Given the description of an element on the screen output the (x, y) to click on. 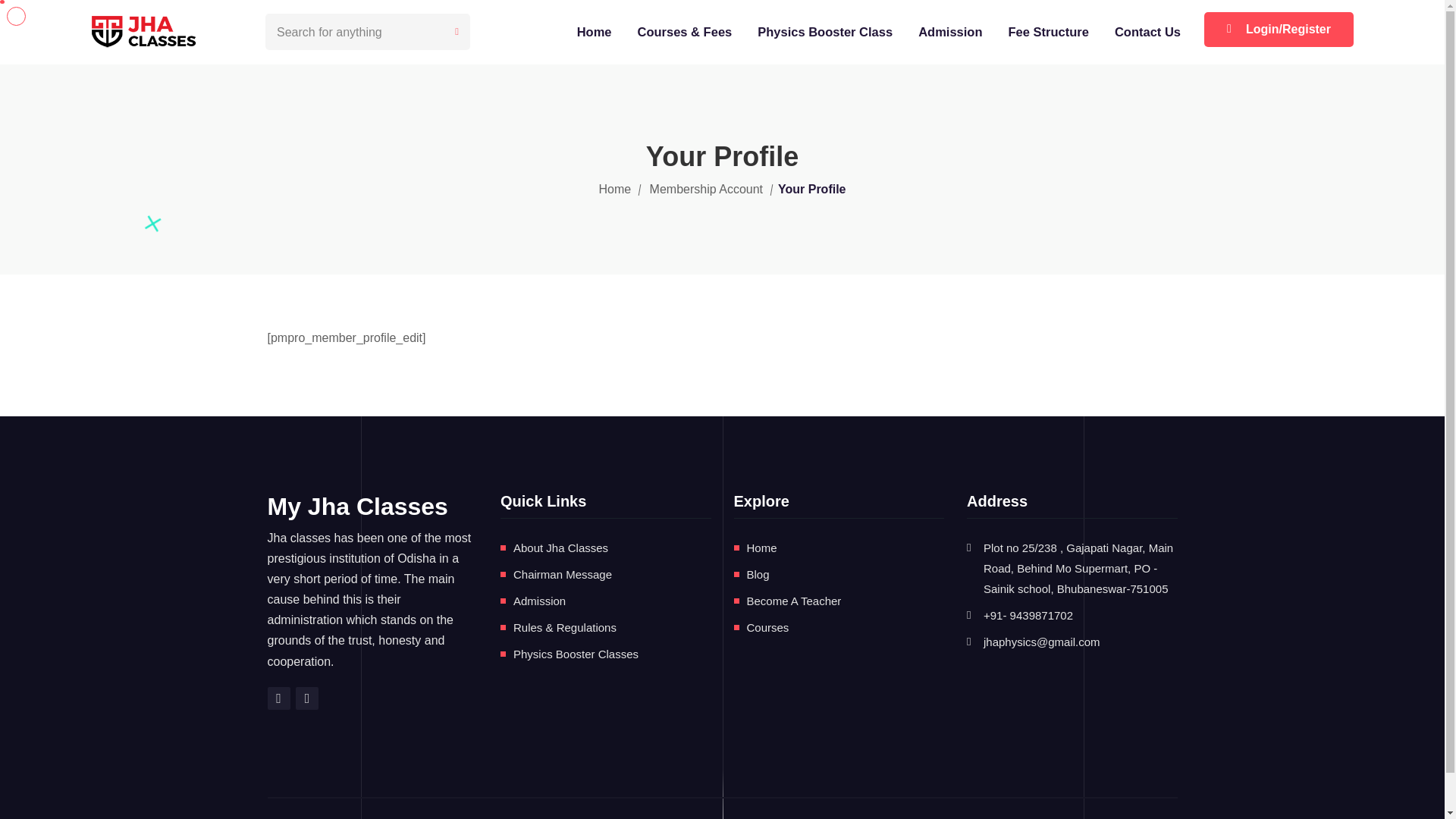
Membership Account (705, 189)
Contact Us (1150, 32)
Home (760, 547)
Physics Booster Classes (576, 653)
Physics Booster Class (826, 32)
Admission (539, 600)
Become A Teacher (793, 600)
Fee Structure (1051, 32)
Fee Structure (1051, 32)
Admission (952, 32)
